Given the description of an element on the screen output the (x, y) to click on. 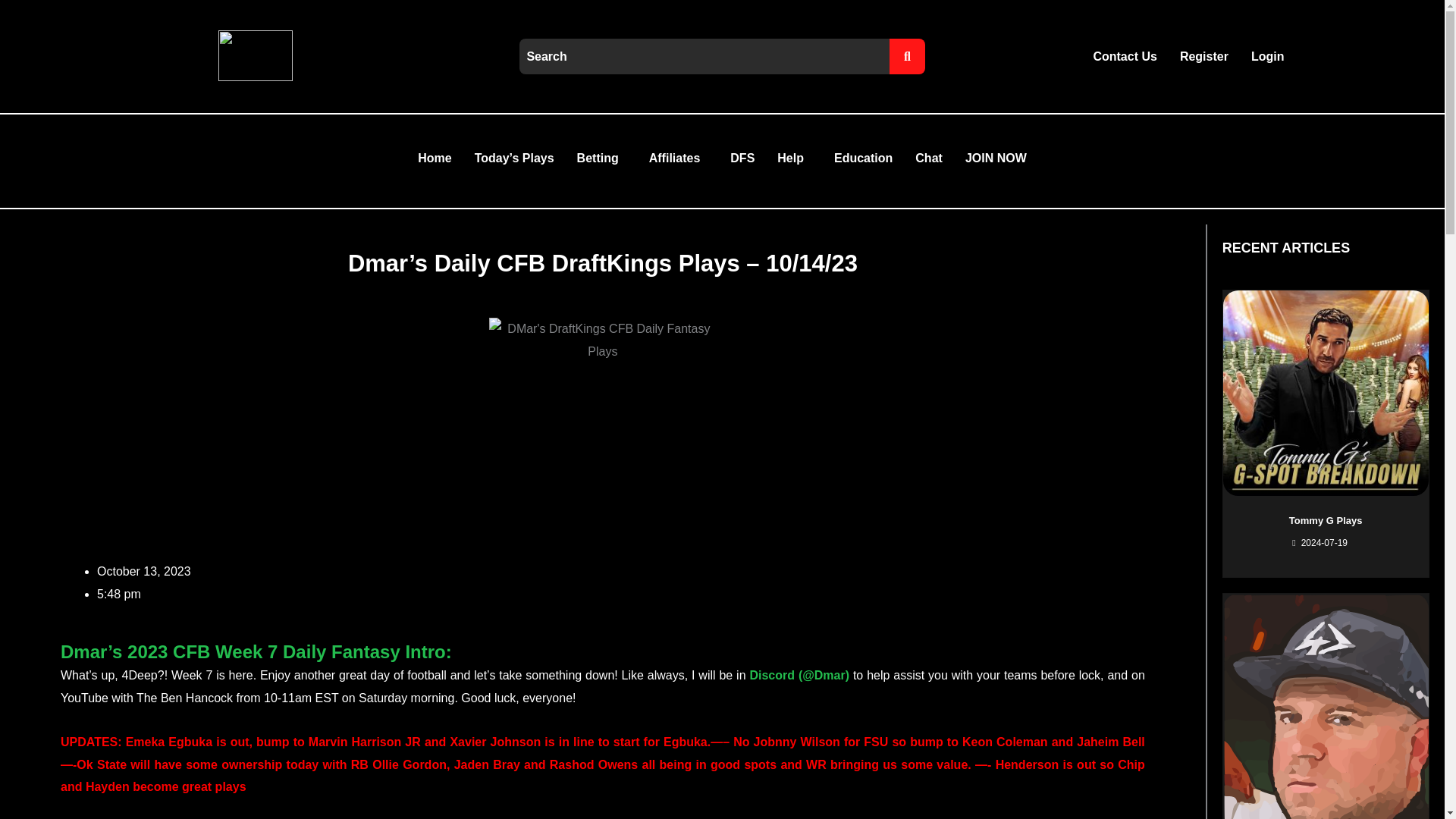
Login (1267, 56)
Contact Us (1124, 56)
Affiliates (678, 158)
Tommy G Plays (1325, 520)
DFS (742, 158)
JOIN NOW (995, 158)
Chat (928, 158)
Register (1204, 56)
Education (863, 158)
Search (704, 56)
Home (434, 158)
Betting (601, 158)
Help (793, 158)
